Given the description of an element on the screen output the (x, y) to click on. 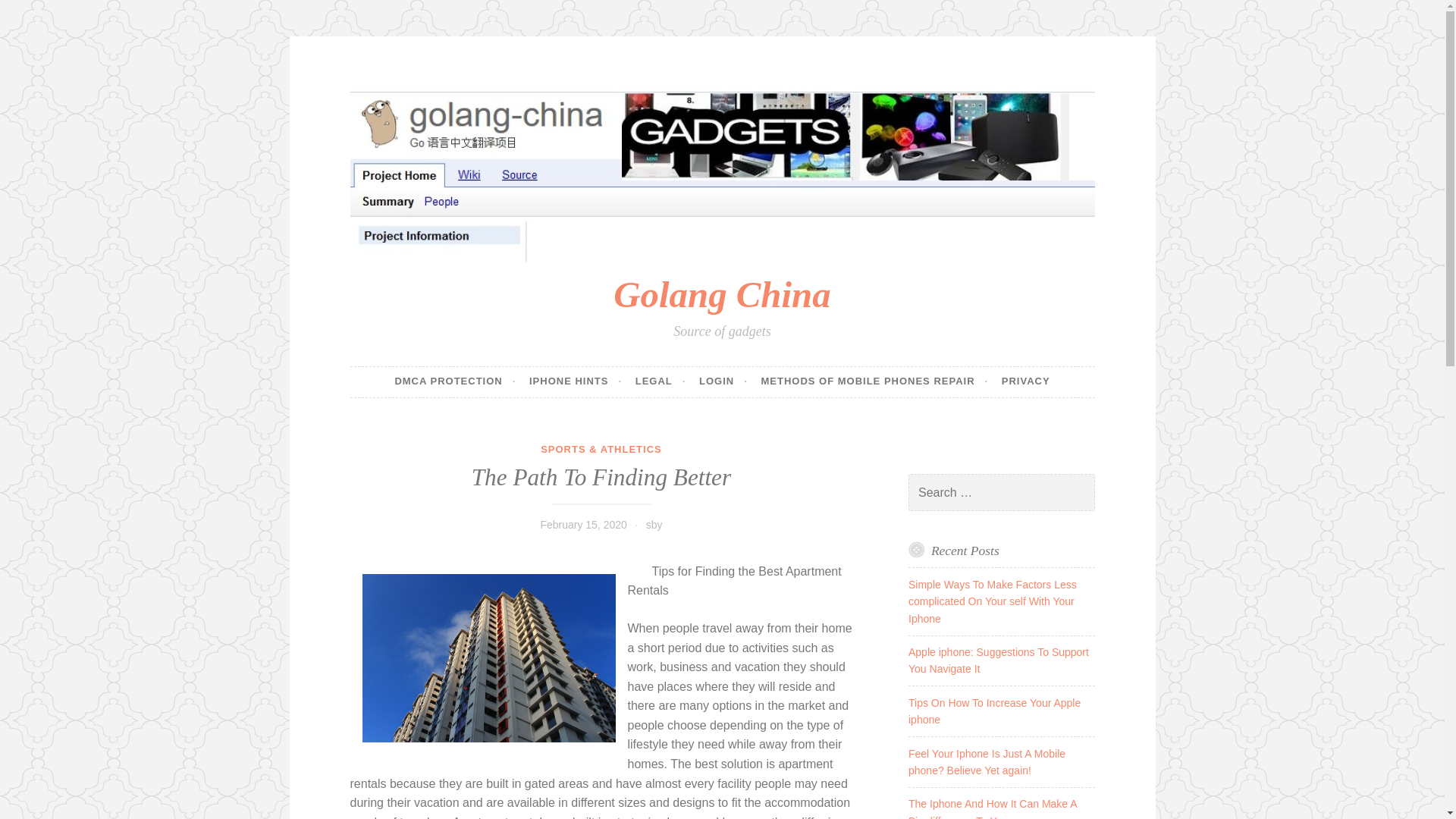
IPHONE HINTS (575, 381)
LOGIN (723, 381)
METHODS OF MOBILE PHONES REPAIR (874, 381)
DMCA PROTECTION (454, 381)
PRIVACY (1025, 381)
LEGAL (659, 381)
sby (654, 524)
The Iphone And How It Can Make A Big difference To You (992, 808)
Tips On How To Increase Your Apple iphone (994, 710)
February 15, 2020 (583, 524)
Apple iphone: Suggestions To Support You Navigate It (998, 660)
Golang China (720, 294)
Search (33, 13)
